Given the description of an element on the screen output the (x, y) to click on. 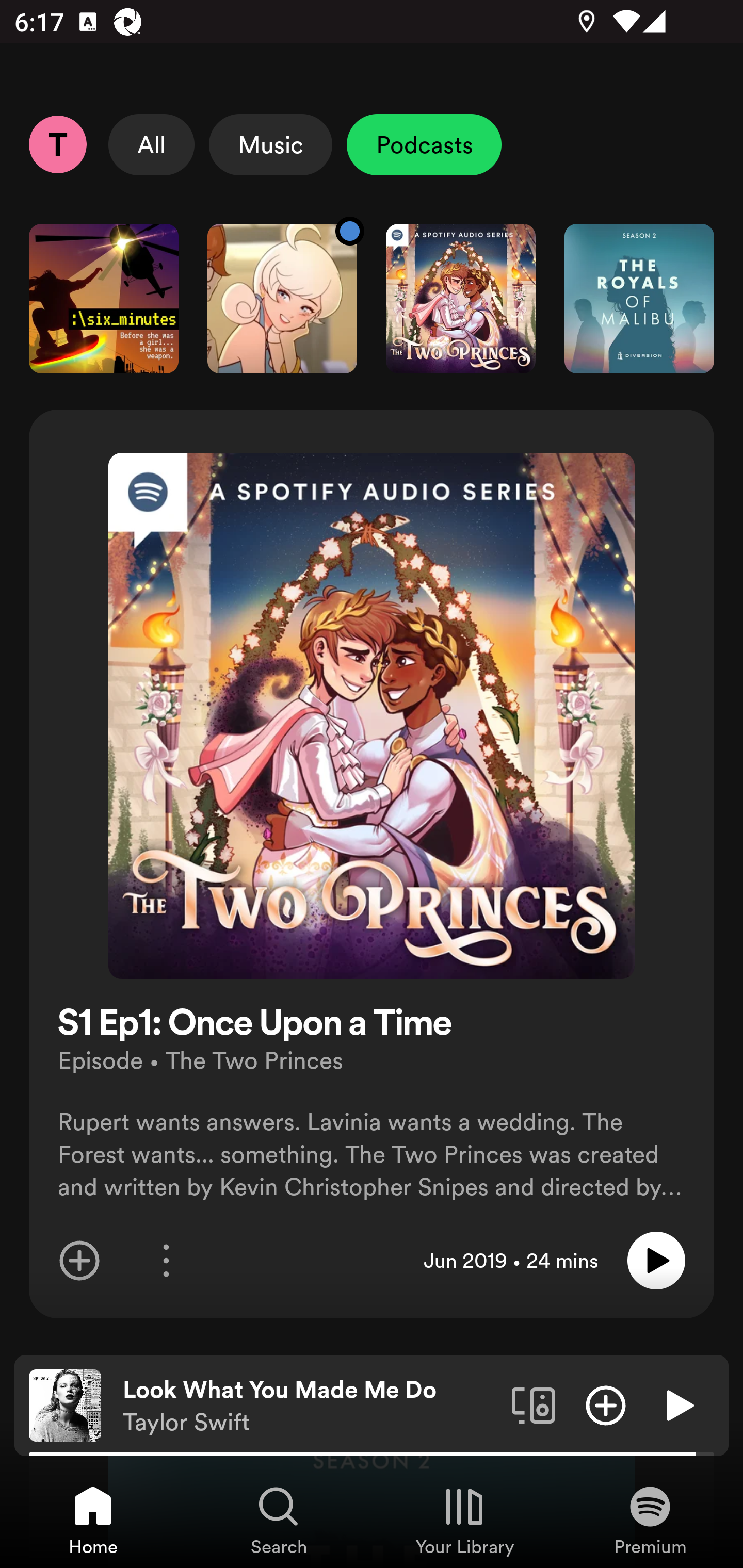
Profile (57, 144)
All Select All (151, 144)
Music Select Music (270, 144)
Podcasts Unselect Podcasts (423, 144)
Six Minutes (103, 298)
MSA  New content (281, 298)
The Two Princes (460, 298)
The Royals of Malibu (639, 298)
Add item (79, 1260)
Play (655, 1260)
Look What You Made Me Do Taylor Swift (309, 1405)
The cover art of the currently playing track (64, 1404)
Connect to a device. Opens the devices menu (533, 1404)
Add item (605, 1404)
Play (677, 1404)
Home, Tab 1 of 4 Home Home (92, 1519)
Search, Tab 2 of 4 Search Search (278, 1519)
Your Library, Tab 3 of 4 Your Library Your Library (464, 1519)
Premium, Tab 4 of 4 Premium Premium (650, 1519)
